Given the description of an element on the screen output the (x, y) to click on. 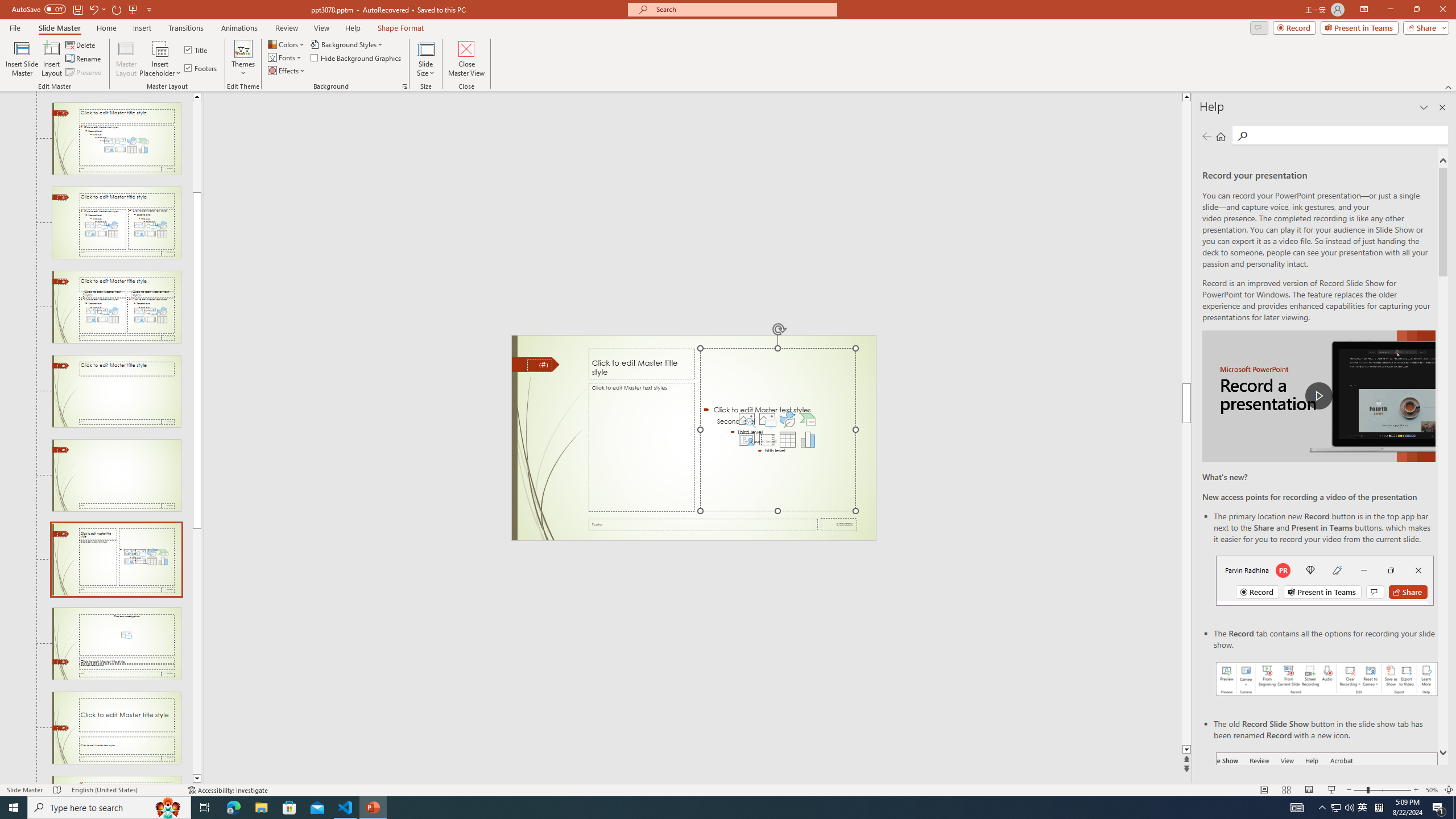
Slide Two Content Layout: used by no slides (116, 222)
Slide Size (425, 58)
Slide Master (59, 28)
Hide Background Graphics (356, 56)
Themes (243, 58)
Master Layout... (126, 58)
Footers (201, 67)
